Given the description of an element on the screen output the (x, y) to click on. 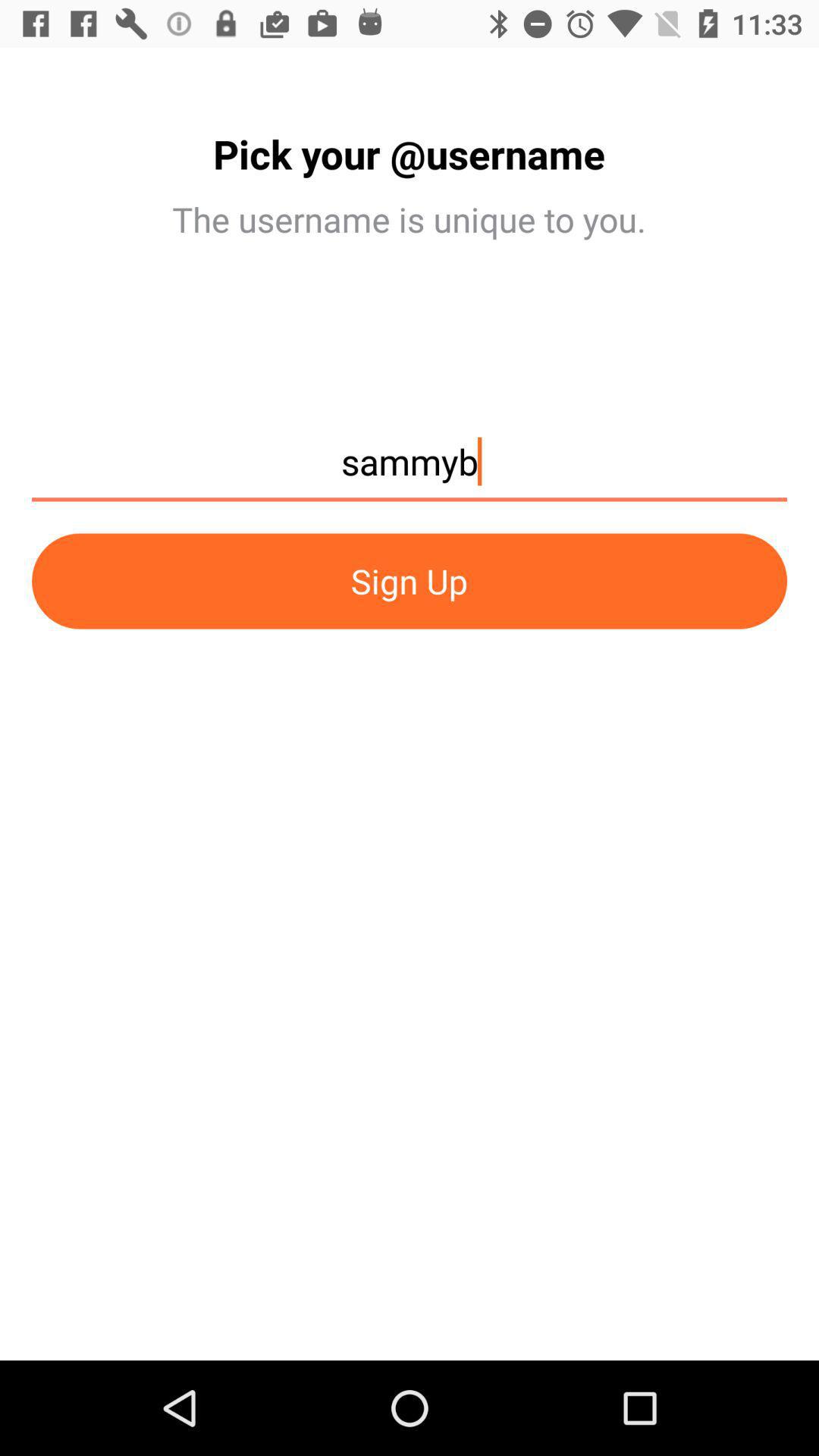
select icon below sammyb icon (409, 581)
